Given the description of an element on the screen output the (x, y) to click on. 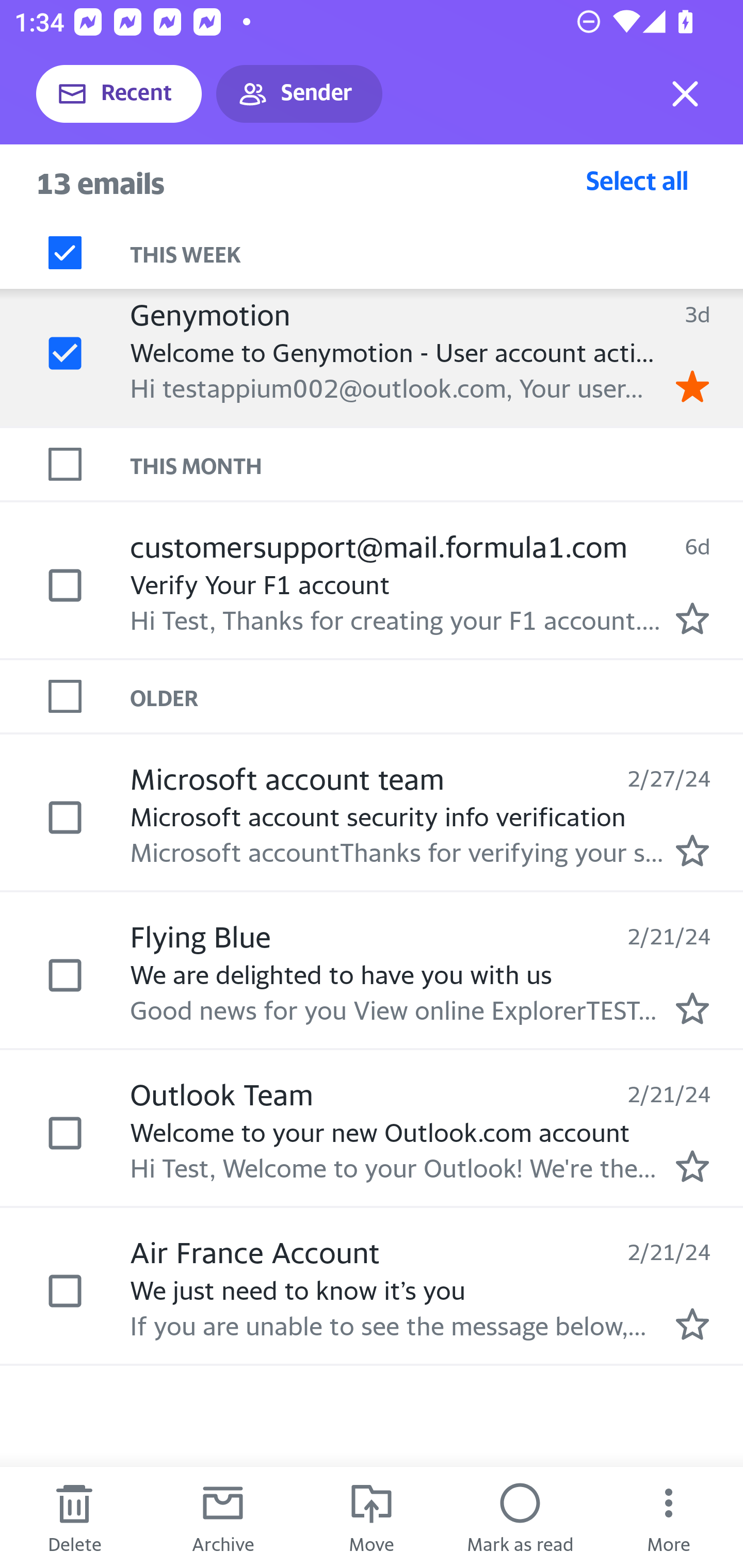
Sender (299, 93)
Exit selection mode (684, 93)
Select all (637, 180)
Remove star. (692, 386)
THIS MONTH (436, 464)
Mark as starred. (692, 618)
OLDER (436, 696)
Mark as starred. (692, 850)
Mark as starred. (692, 1008)
Mark as starred. (692, 1165)
Mark as starred. (692, 1324)
Delete (74, 1517)
Archive (222, 1517)
Move (371, 1517)
Mark as read (519, 1517)
More (668, 1517)
